Given the description of an element on the screen output the (x, y) to click on. 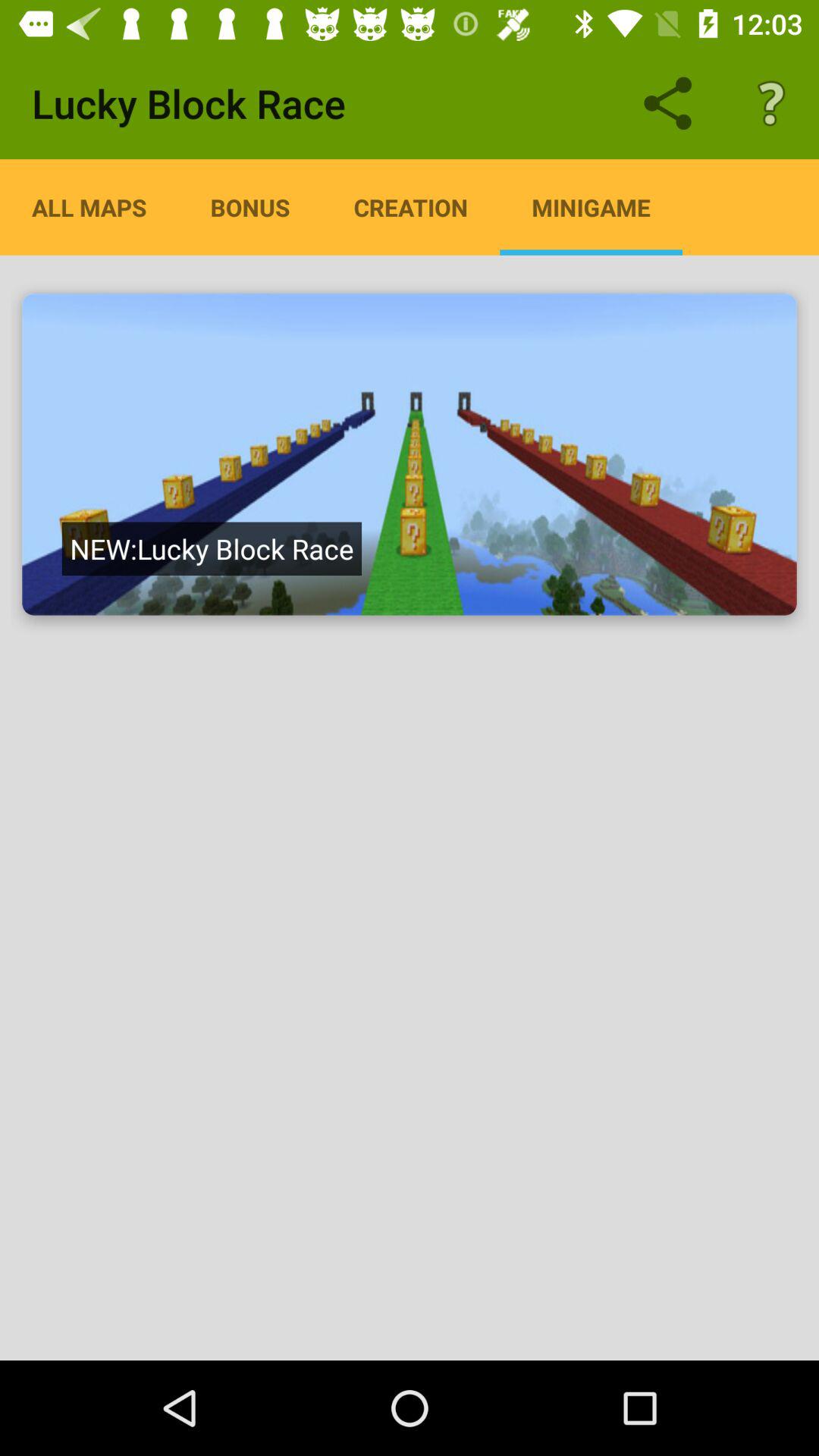
jump to the minigame (590, 207)
